Given the description of an element on the screen output the (x, y) to click on. 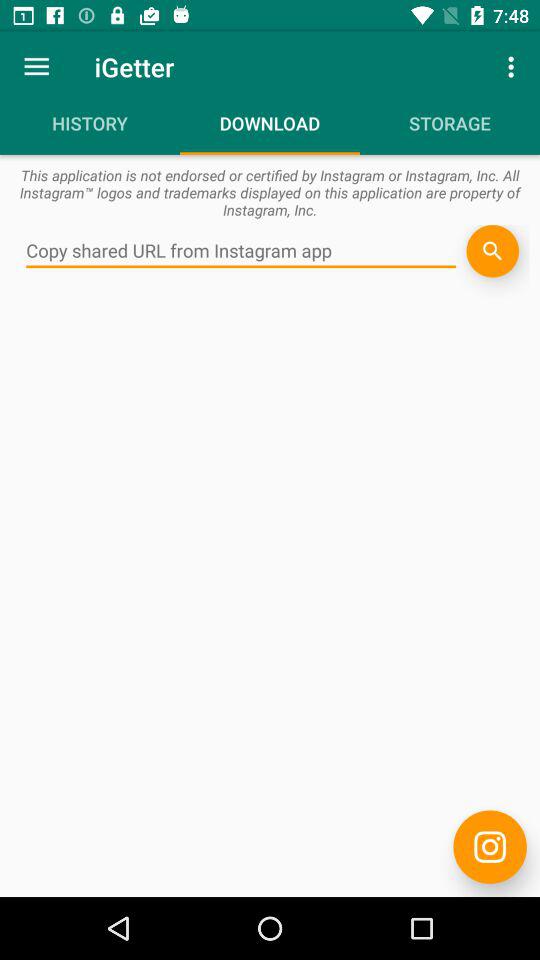
space to enter url (241, 251)
